Given the description of an element on the screen output the (x, y) to click on. 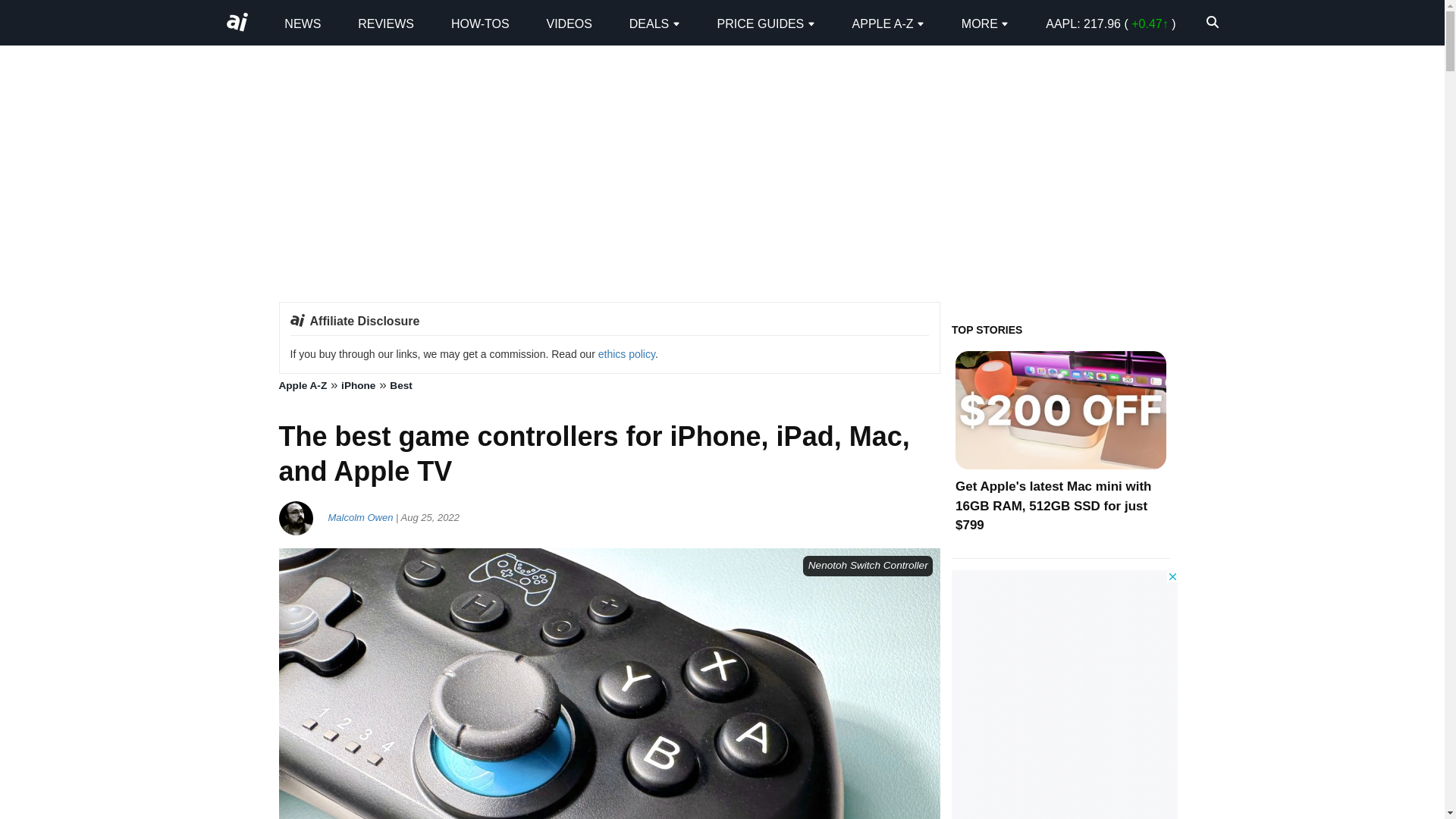
HOW-TOS (480, 23)
Videos (568, 23)
VIDEOS (568, 23)
How-Tos (480, 23)
News (301, 23)
NEWS (301, 23)
REVIEWS (385, 23)
Reviews (385, 23)
